Given the description of an element on the screen output the (x, y) to click on. 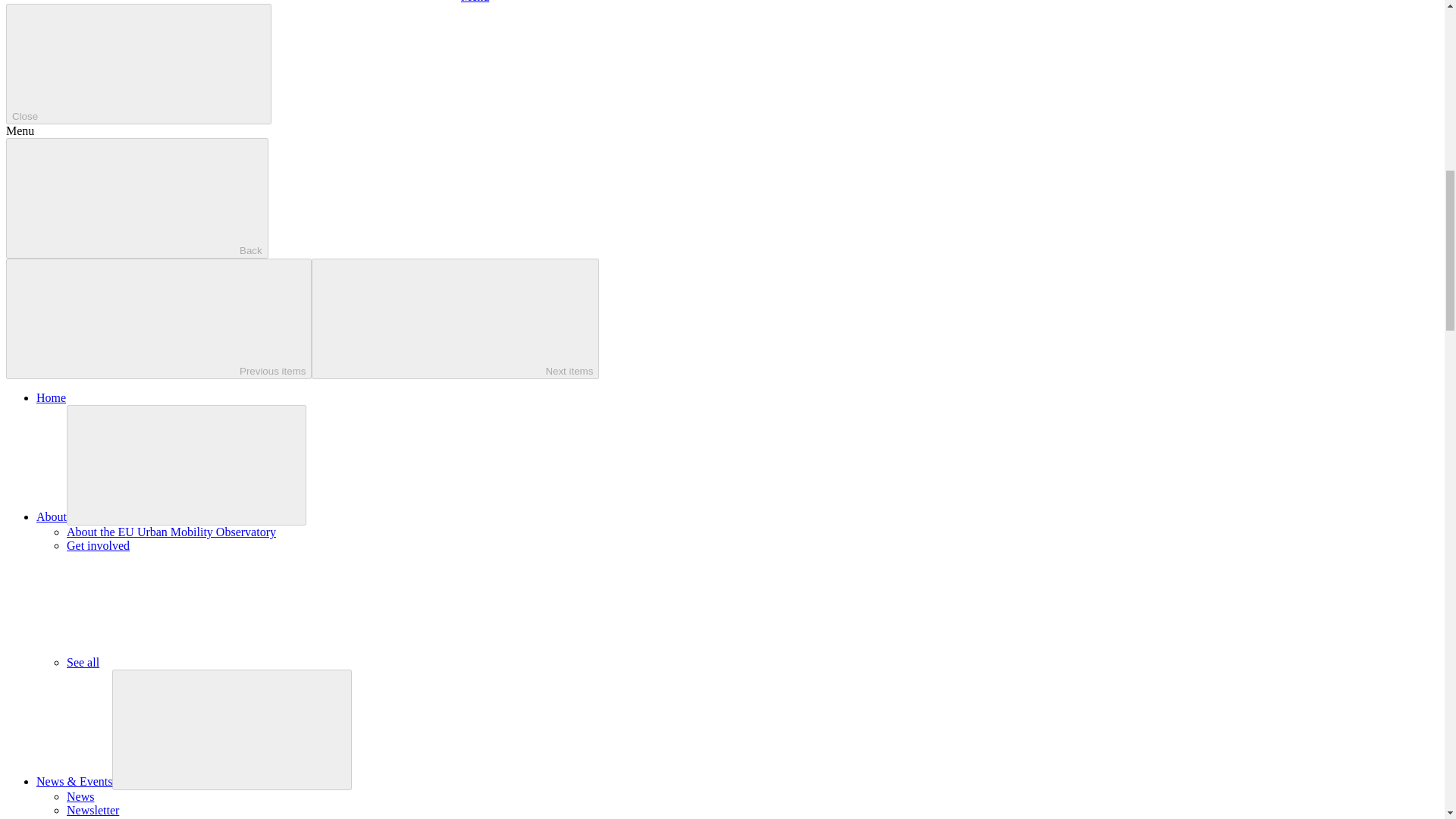
Home (50, 397)
Previous items (158, 318)
See all (196, 662)
Back (136, 198)
About the EU Urban Mobility Observatory (171, 531)
Next items (454, 318)
Get involved (97, 545)
Newsletter (92, 809)
News (80, 796)
